Given the description of an element on the screen output the (x, y) to click on. 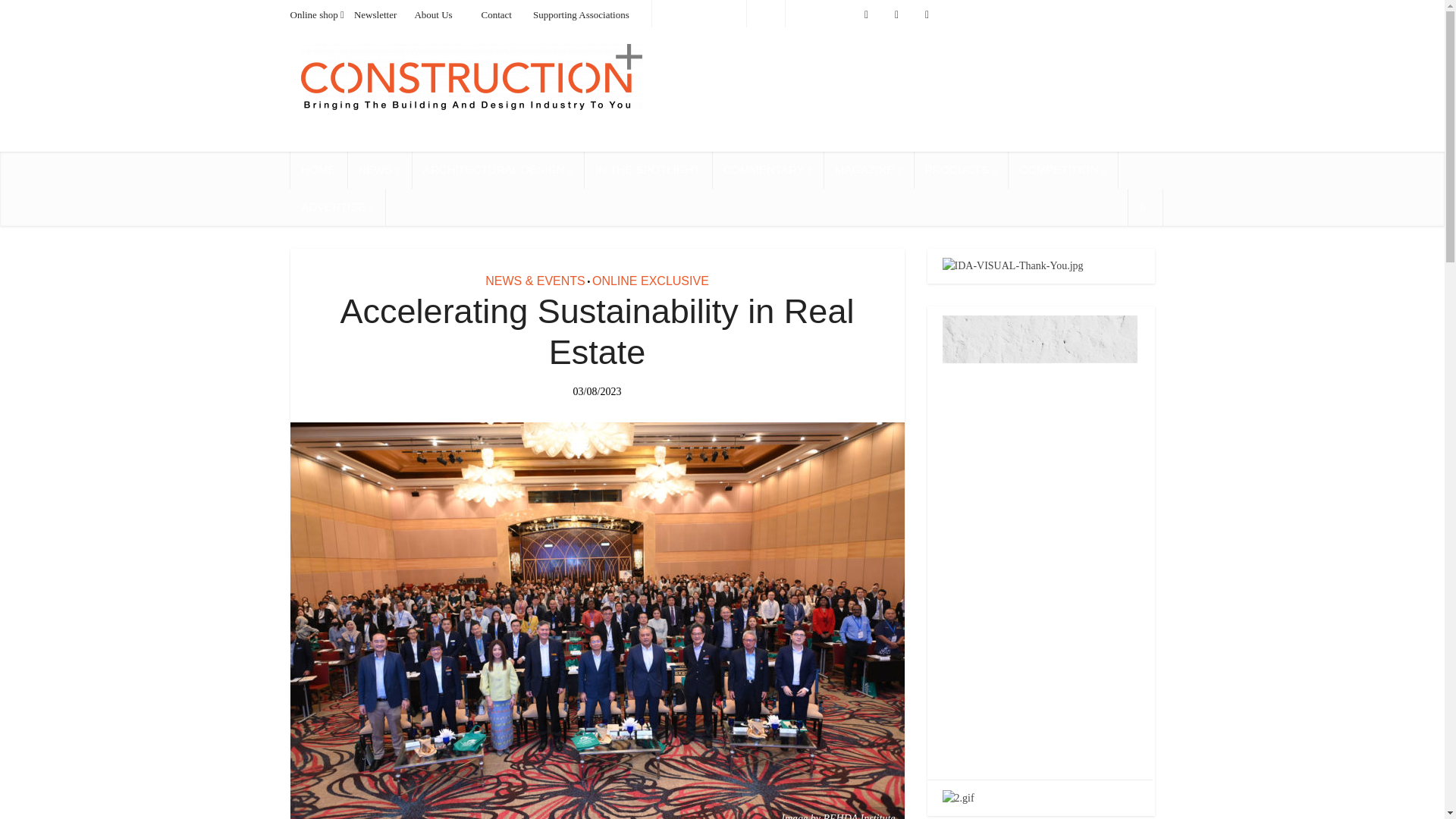
IN THE SPOTLIGHT (647, 170)
PRODUCTS (961, 170)
About Us (432, 14)
MAGAZINE (869, 170)
Newsletter (374, 14)
Contact (496, 14)
Supporting Associations (580, 14)
Online shop (313, 14)
COMMENTARY (767, 170)
HOME (317, 170)
NEWS (379, 170)
ARCHITECTURAL DESIGN (497, 170)
